Given the description of an element on the screen output the (x, y) to click on. 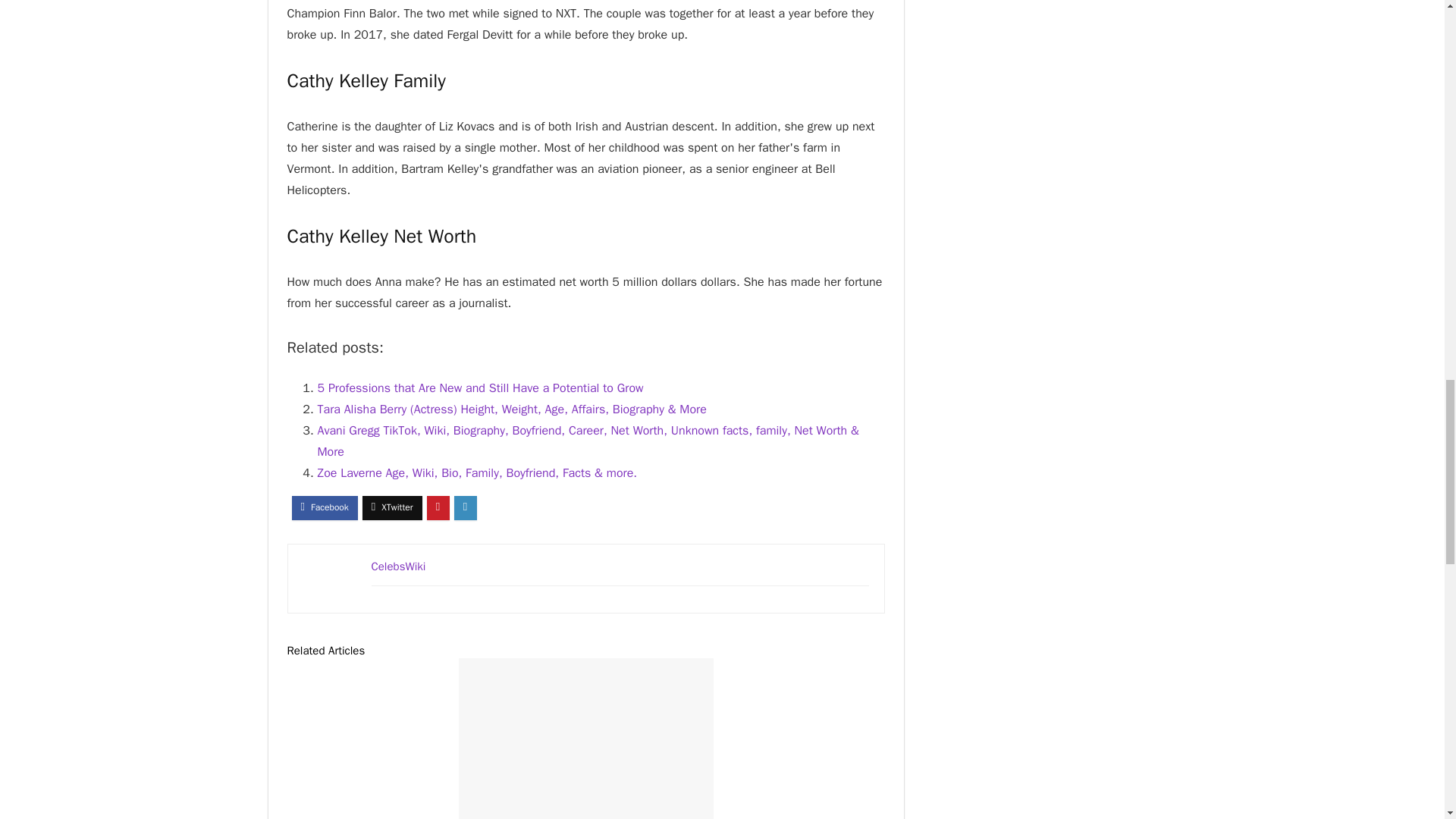
CelebsWiki (398, 566)
